Given the description of an element on the screen output the (x, y) to click on. 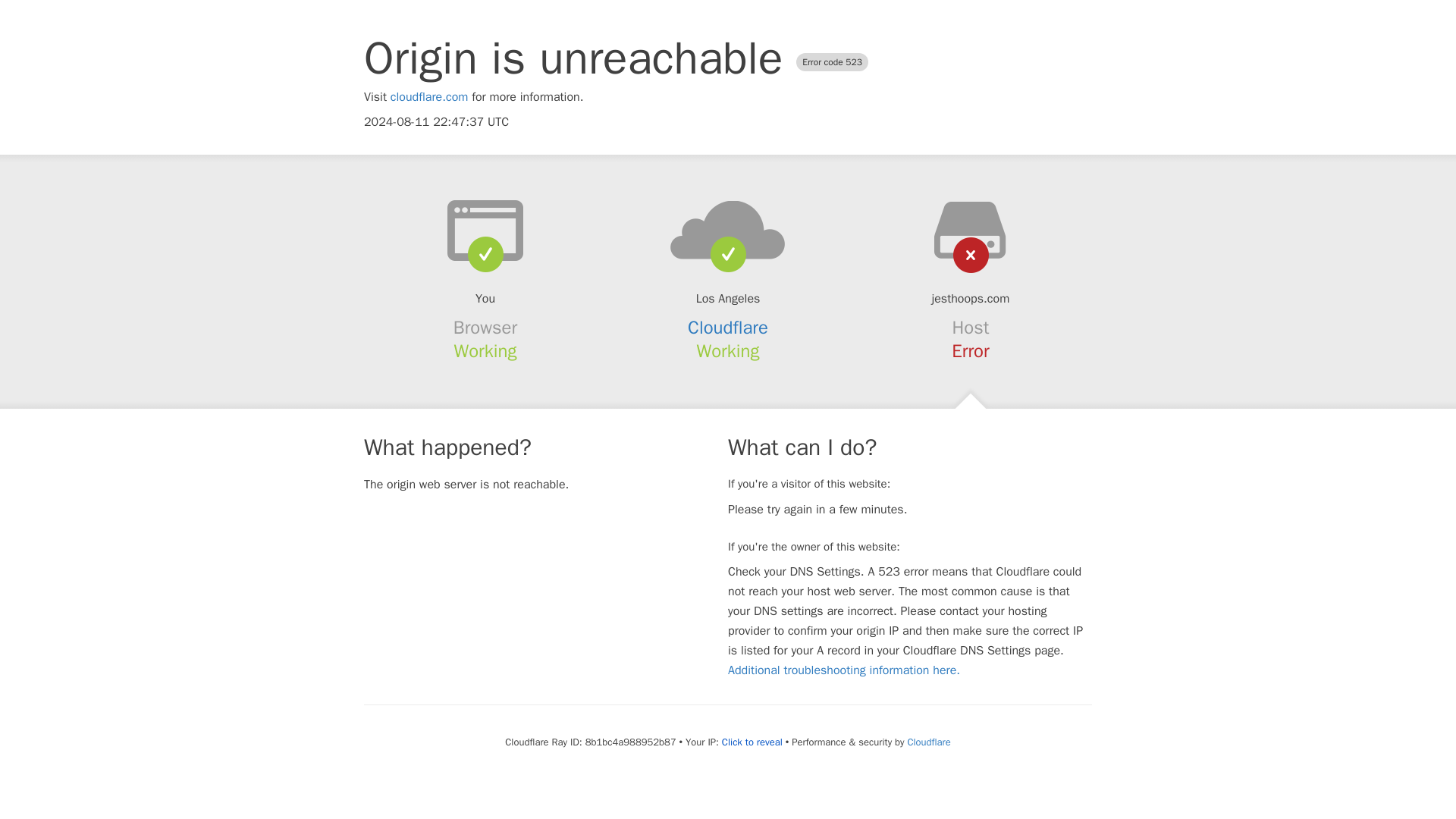
cloudflare.com (429, 96)
Click to reveal (752, 742)
Cloudflare (928, 741)
Cloudflare (727, 327)
Additional troubleshooting information here. (843, 670)
